Given the description of an element on the screen output the (x, y) to click on. 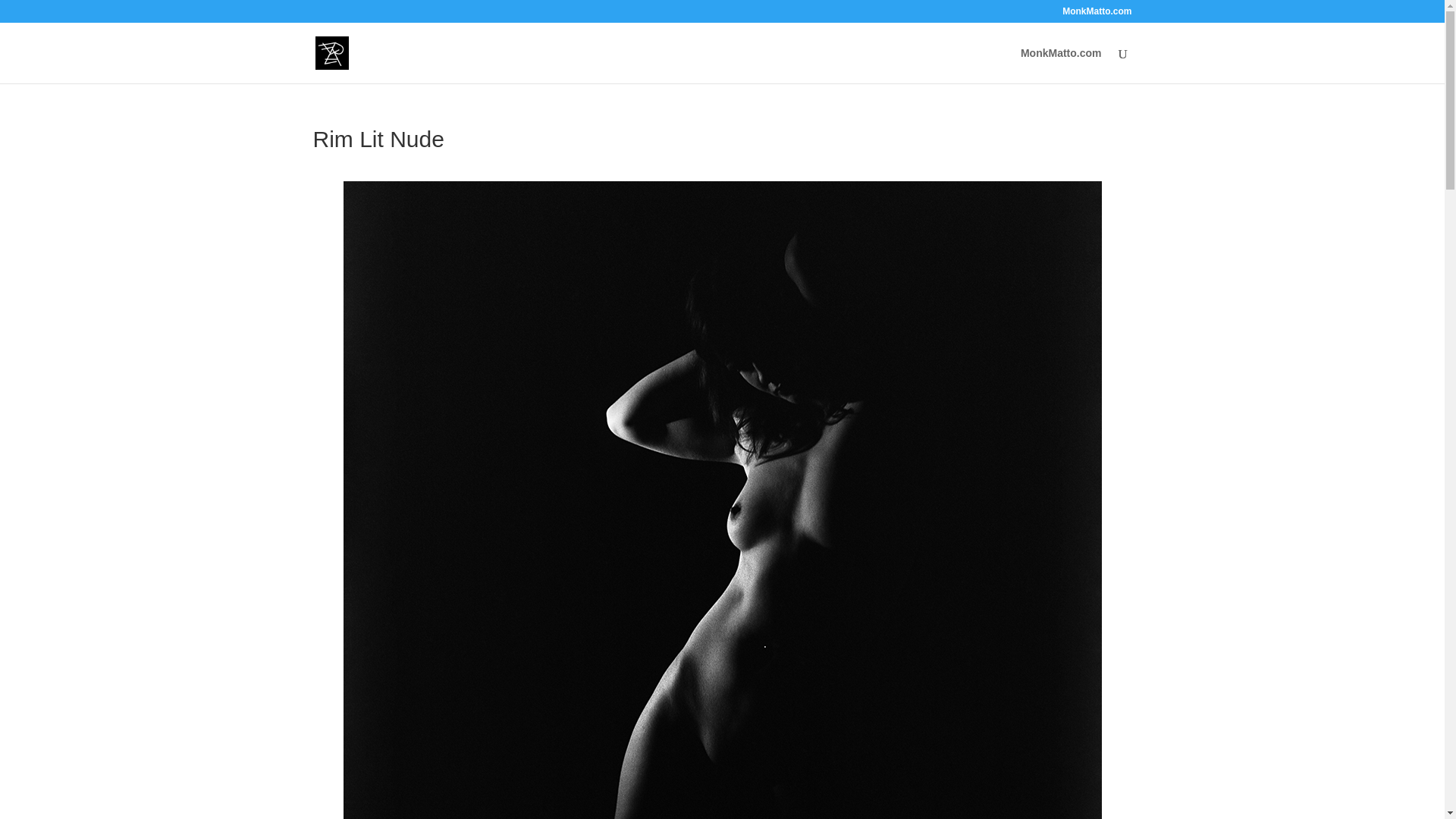
MonkMatto.com (1096, 14)
MonkMatto.com (1061, 65)
